Given the description of an element on the screen output the (x, y) to click on. 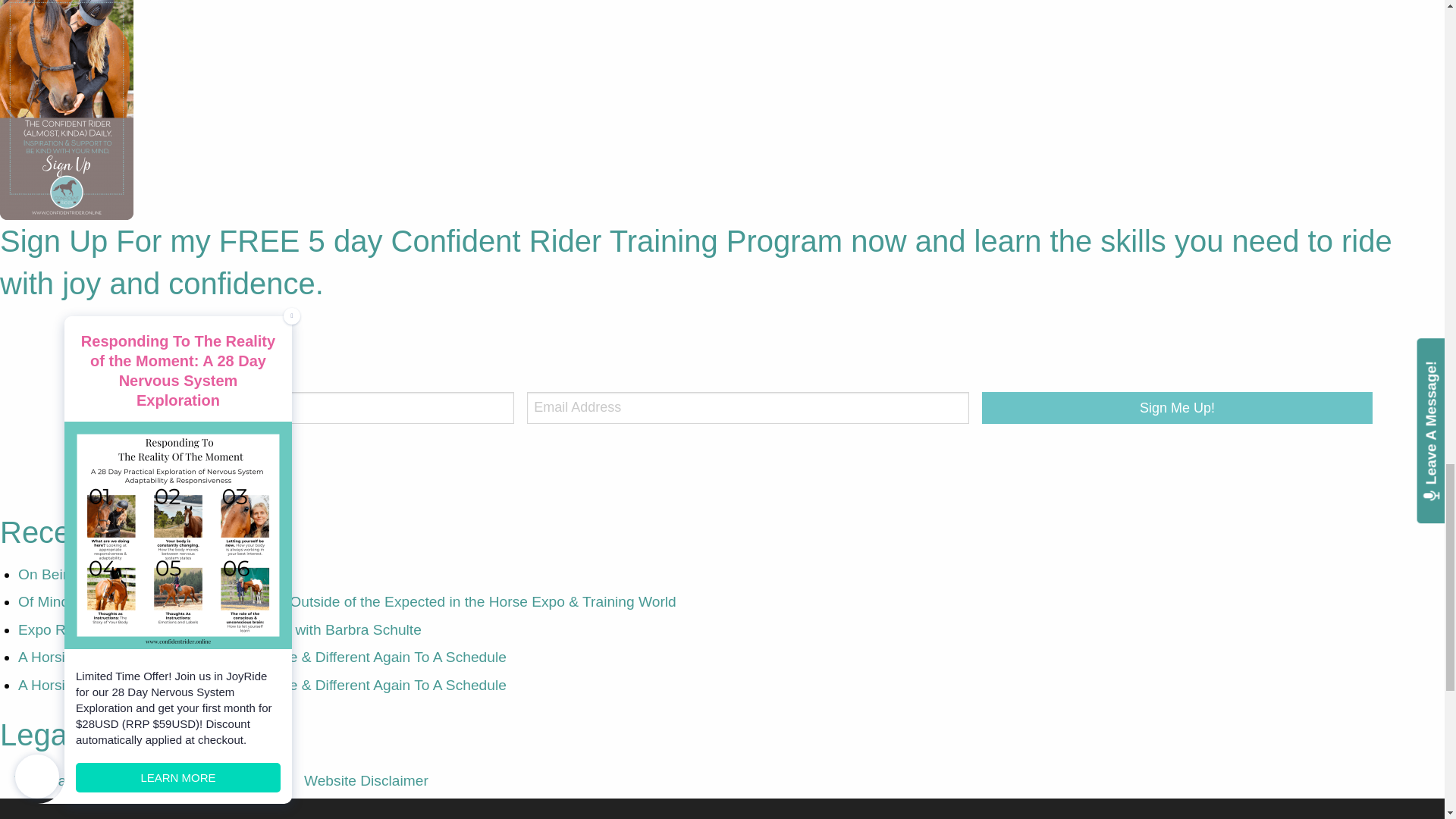
Website Disclaimer (365, 780)
On Being Enough with Barbra Schulte (140, 574)
Terms and Conditions (85, 780)
Sign Me Up! (1176, 408)
Privacy Policy (229, 780)
